Given the description of an element on the screen output the (x, y) to click on. 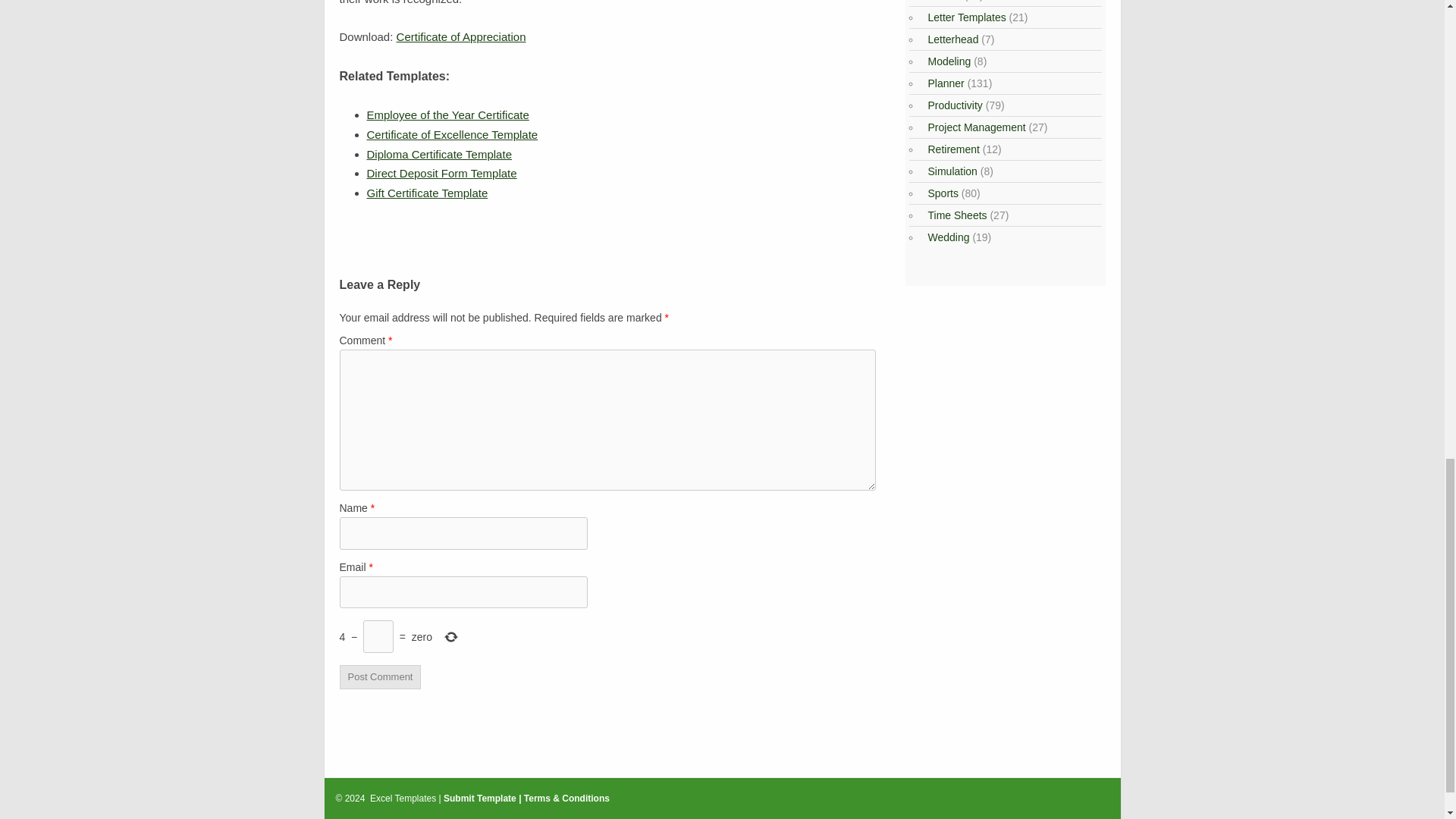
Post Comment (380, 677)
June 27, 2013 (426, 192)
Post Comment (380, 677)
Direct Deposit Form Template (441, 173)
Certificate of Appreciation (460, 36)
June 24, 2013 (452, 133)
July 16, 2014 (439, 154)
Diploma Certificate Template (439, 154)
Employee of the Year Certificate (447, 114)
Certificate of Excellence Template (452, 133)
November 11, 2013 (441, 173)
Gift Certificate Template (426, 192)
June 24, 2013 (447, 114)
